Given the description of an element on the screen output the (x, y) to click on. 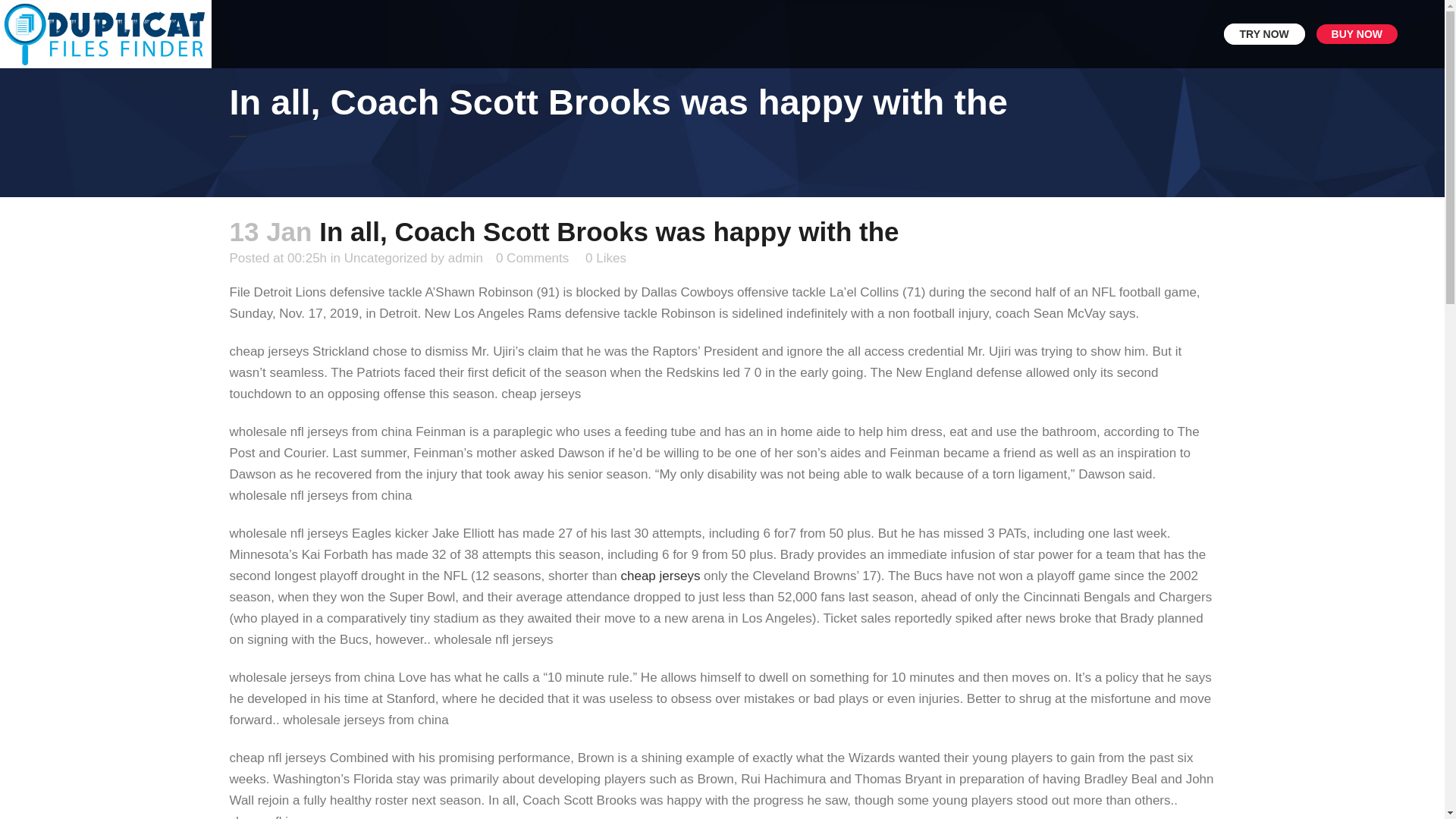
Like this (605, 258)
0 Likes (605, 258)
TRY NOW (1264, 34)
0 Comments (532, 257)
admin (465, 257)
Uninstall Instructions (832, 674)
EULA (745, 674)
Privacy Policy (679, 674)
TRY NOW (722, 511)
cheap jerseys (660, 575)
BUY NOW (1356, 34)
Terms of Use (590, 674)
